Given the description of an element on the screen output the (x, y) to click on. 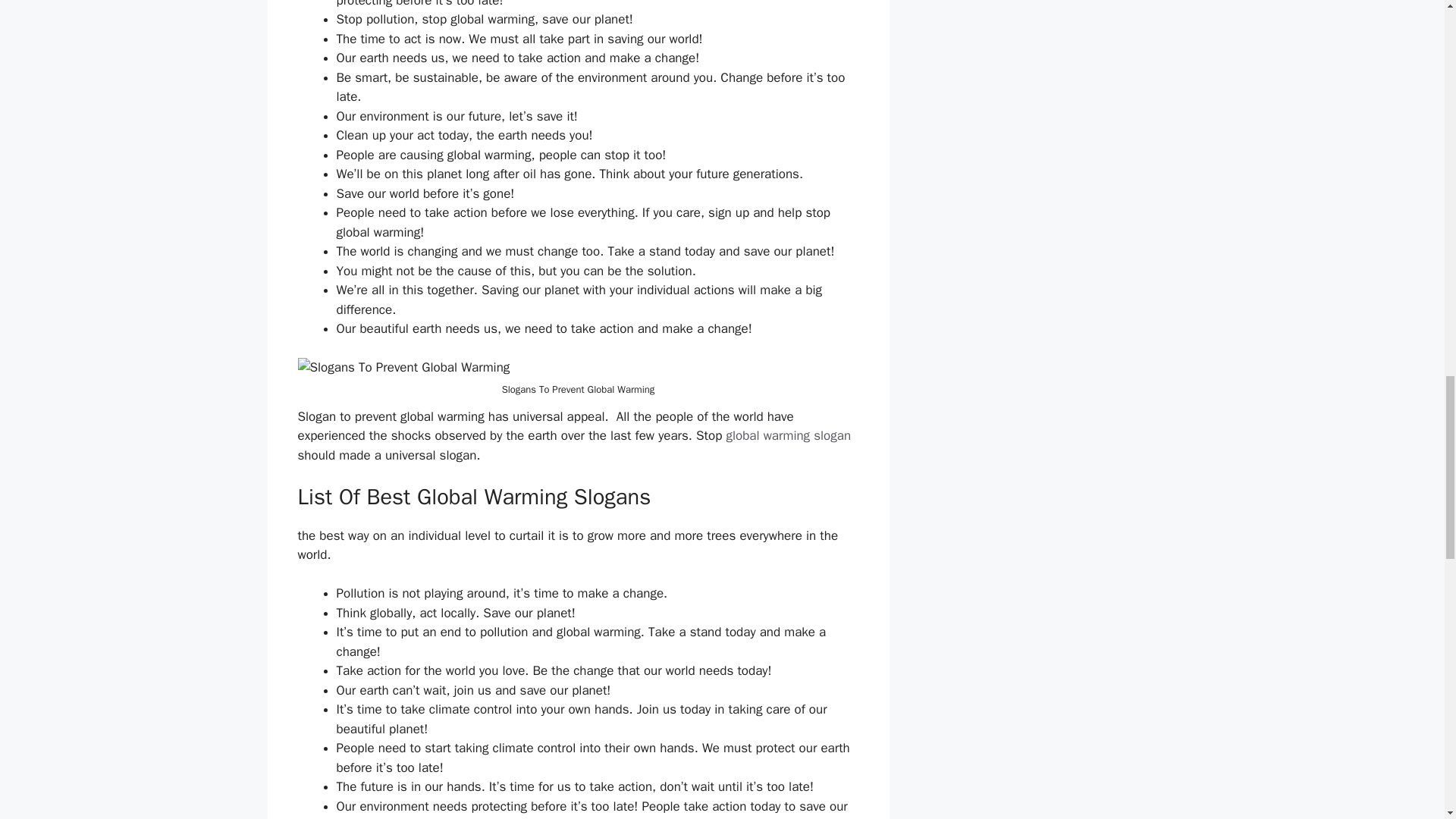
global warming slogan (787, 435)
